Given the description of an element on the screen output the (x, y) to click on. 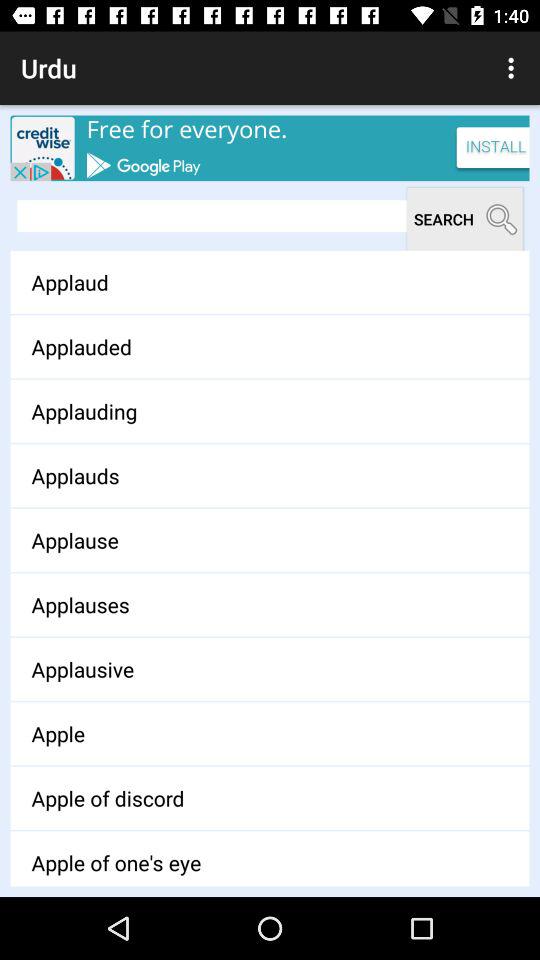
search box (212, 216)
